Given the description of an element on the screen output the (x, y) to click on. 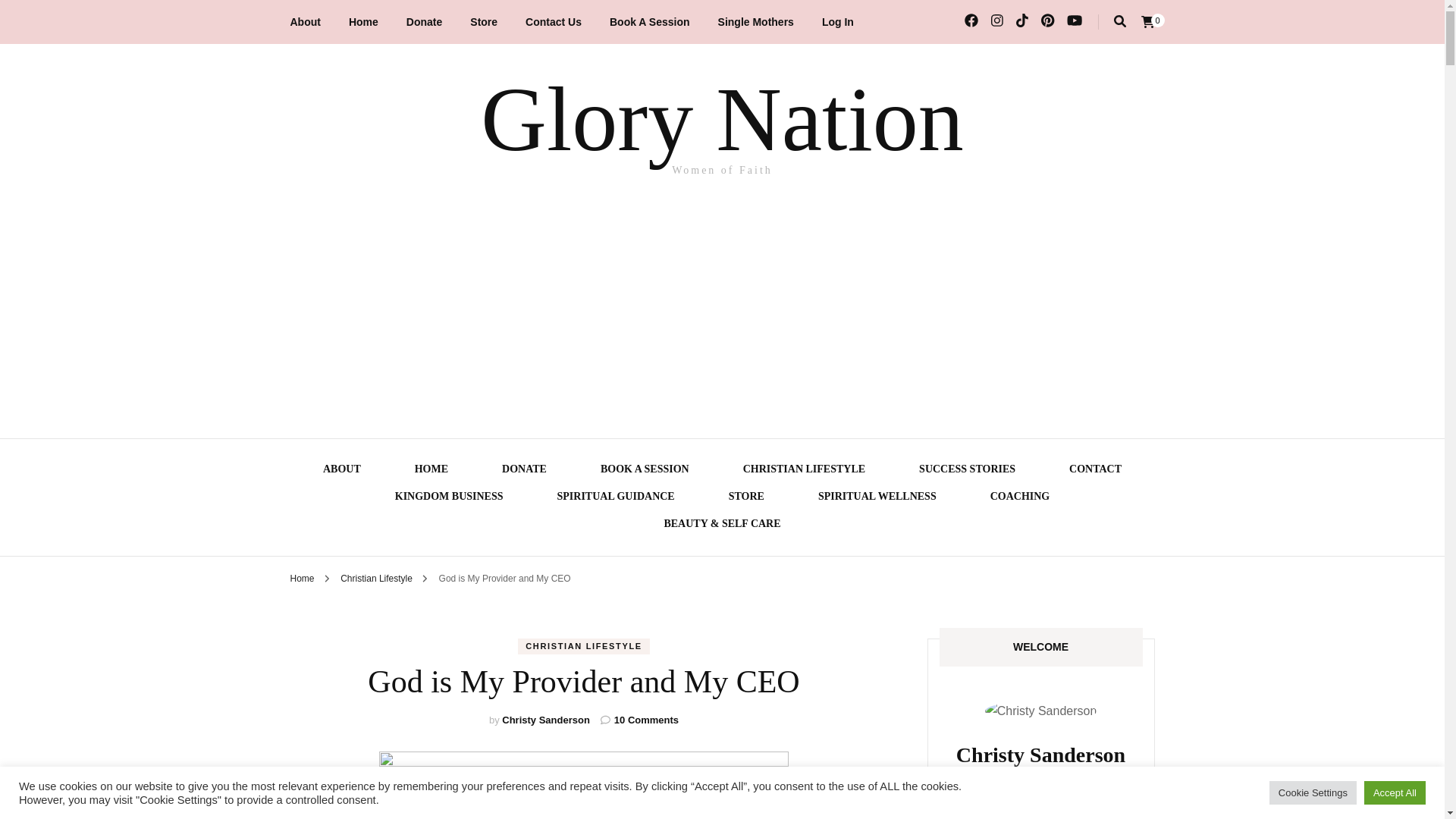
SPIRITUAL GUIDANCE (616, 498)
DONATE (524, 471)
Log In (837, 21)
Single Mothers (755, 21)
Book A Session (650, 21)
CHRISTIAN LIFESTYLE (803, 471)
ABOUT (342, 471)
About (304, 21)
God is My Provider and My CEO (504, 578)
View your shopping cart (1147, 21)
COACHING (1019, 498)
BOOK A SESSION (643, 471)
SUCCESS STORIES (966, 471)
Home (363, 21)
KINGDOM BUSINESS (448, 498)
